Given the description of an element on the screen output the (x, y) to click on. 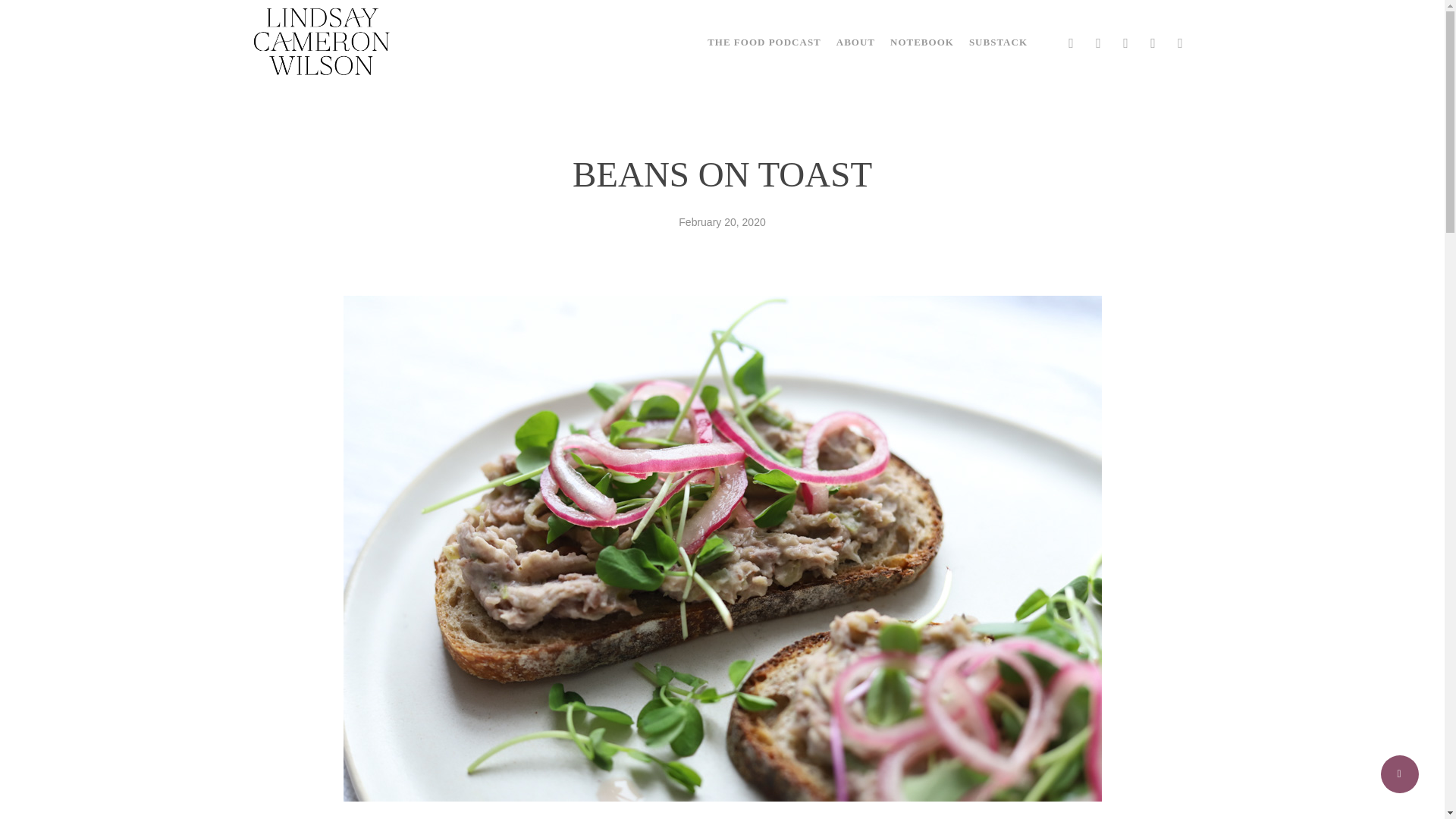
ABOUT (855, 40)
NOTEBOOK (921, 40)
EMAIL (1180, 40)
FACEBOOK (1071, 40)
SUBSTACK (997, 40)
THE FOOD PODCAST (764, 40)
SPOTIFY (1126, 40)
APPLEMUSIC (1153, 40)
INSTAGRAM (1098, 40)
